Given the description of an element on the screen output the (x, y) to click on. 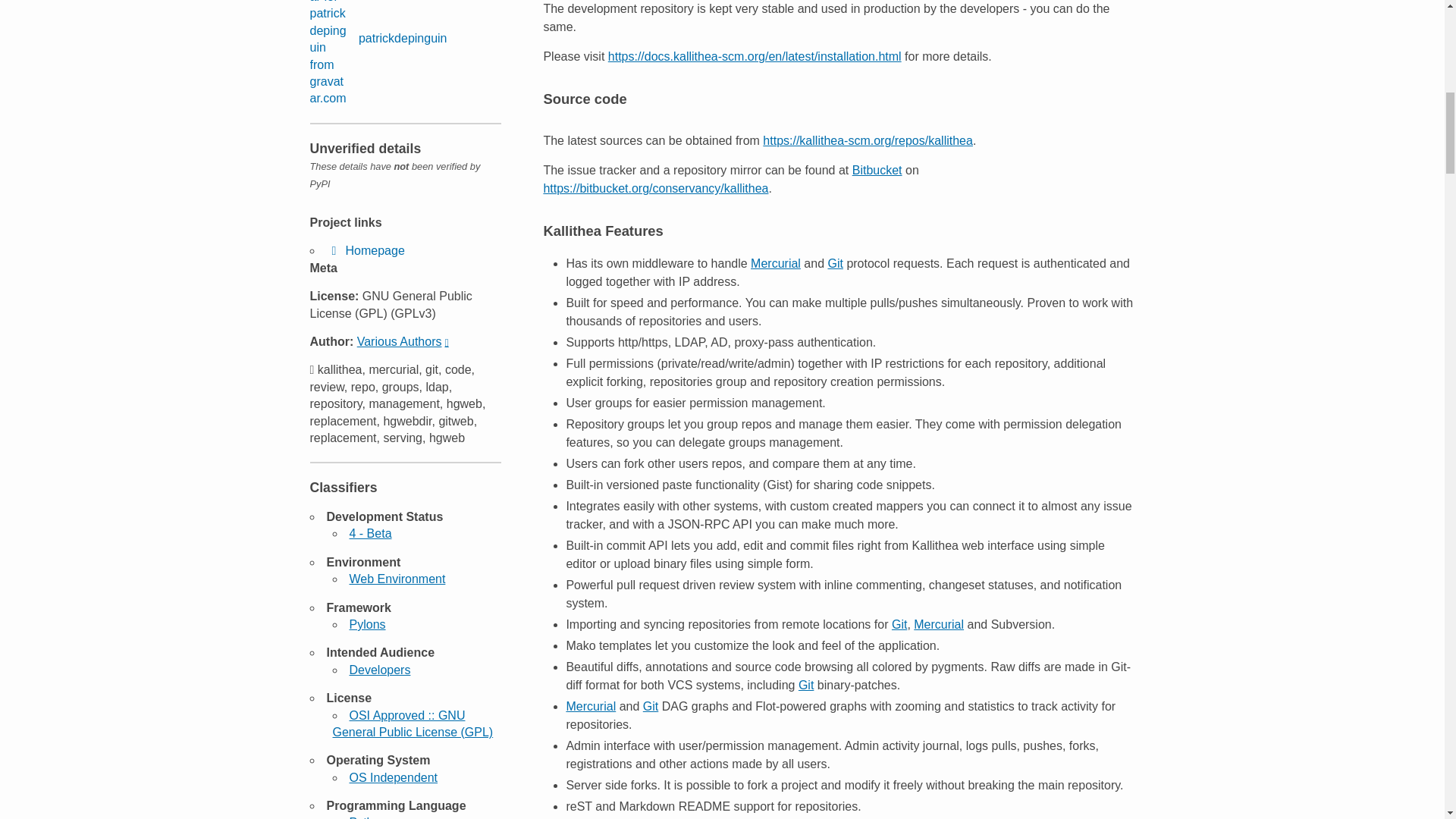
Developers (379, 669)
Pylons (367, 624)
Python (368, 817)
Homepage (365, 250)
OS Independent (393, 777)
Web Environment (397, 578)
Various Authors (402, 341)
4 - Beta (370, 533)
patrickdepinguin (377, 53)
